Given the description of an element on the screen output the (x, y) to click on. 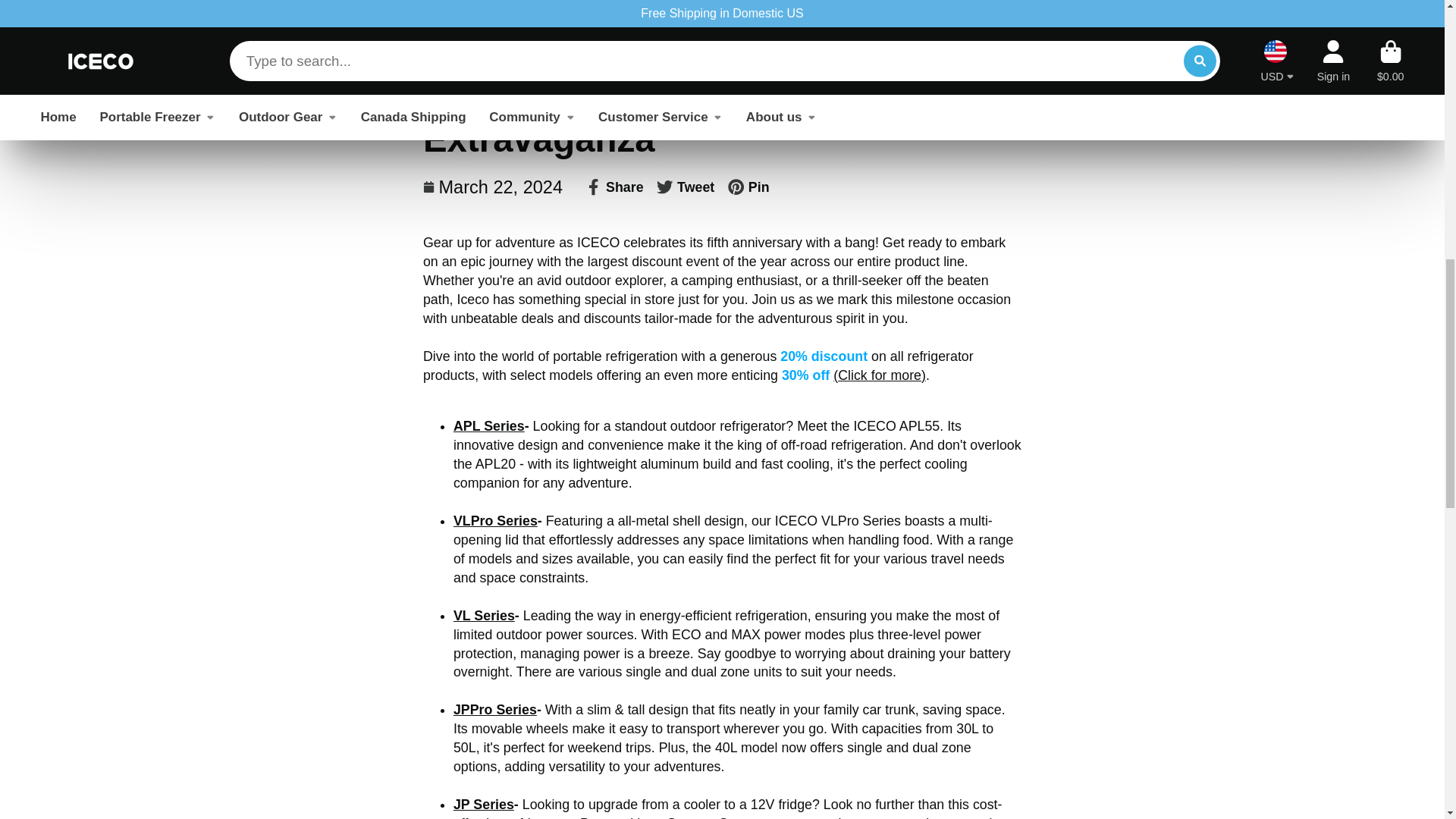
Home (441, 1)
